Given the description of an element on the screen output the (x, y) to click on. 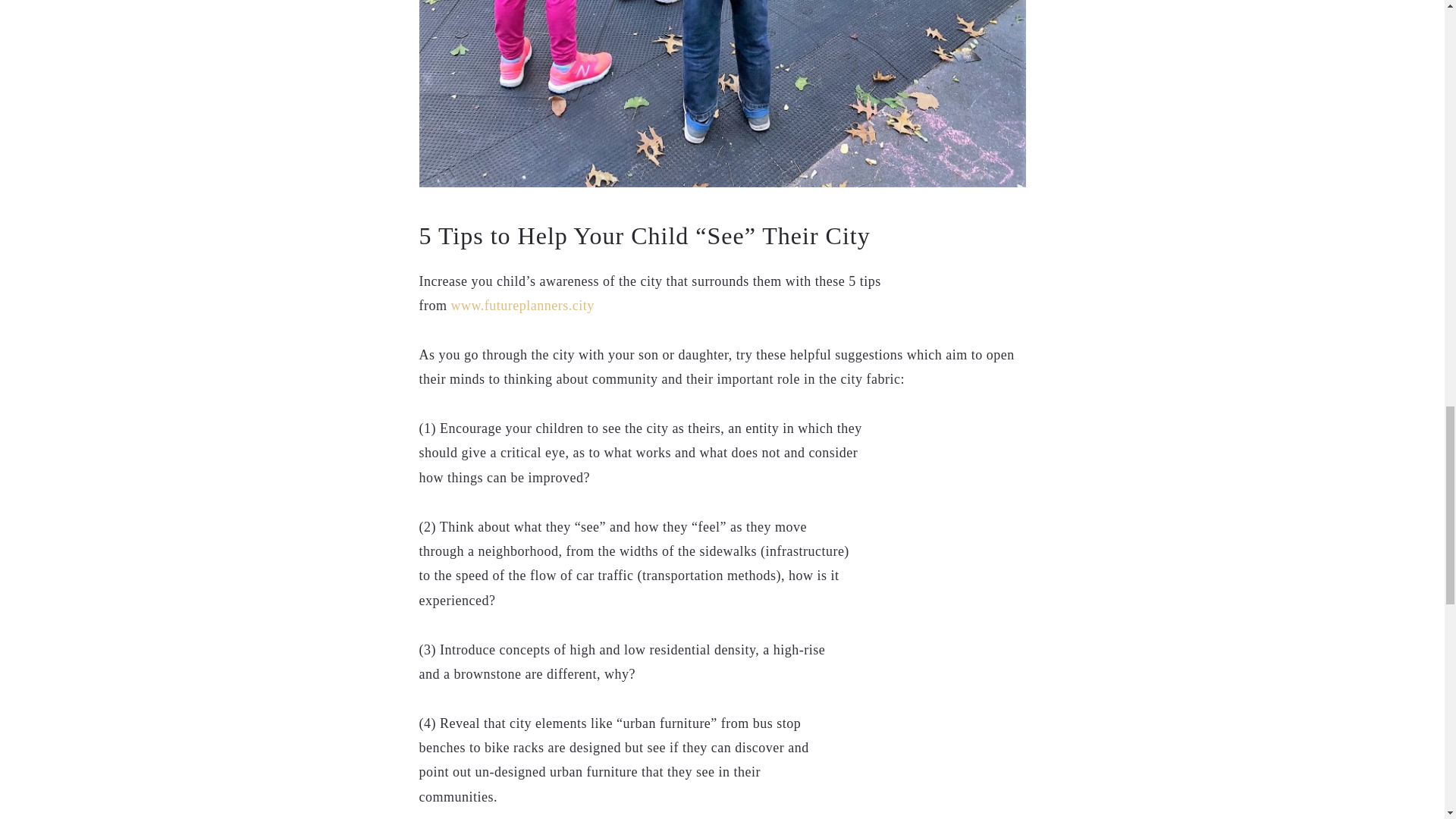
Future Planners (521, 305)
www.futureplanners.city (521, 305)
